Given the description of an element on the screen output the (x, y) to click on. 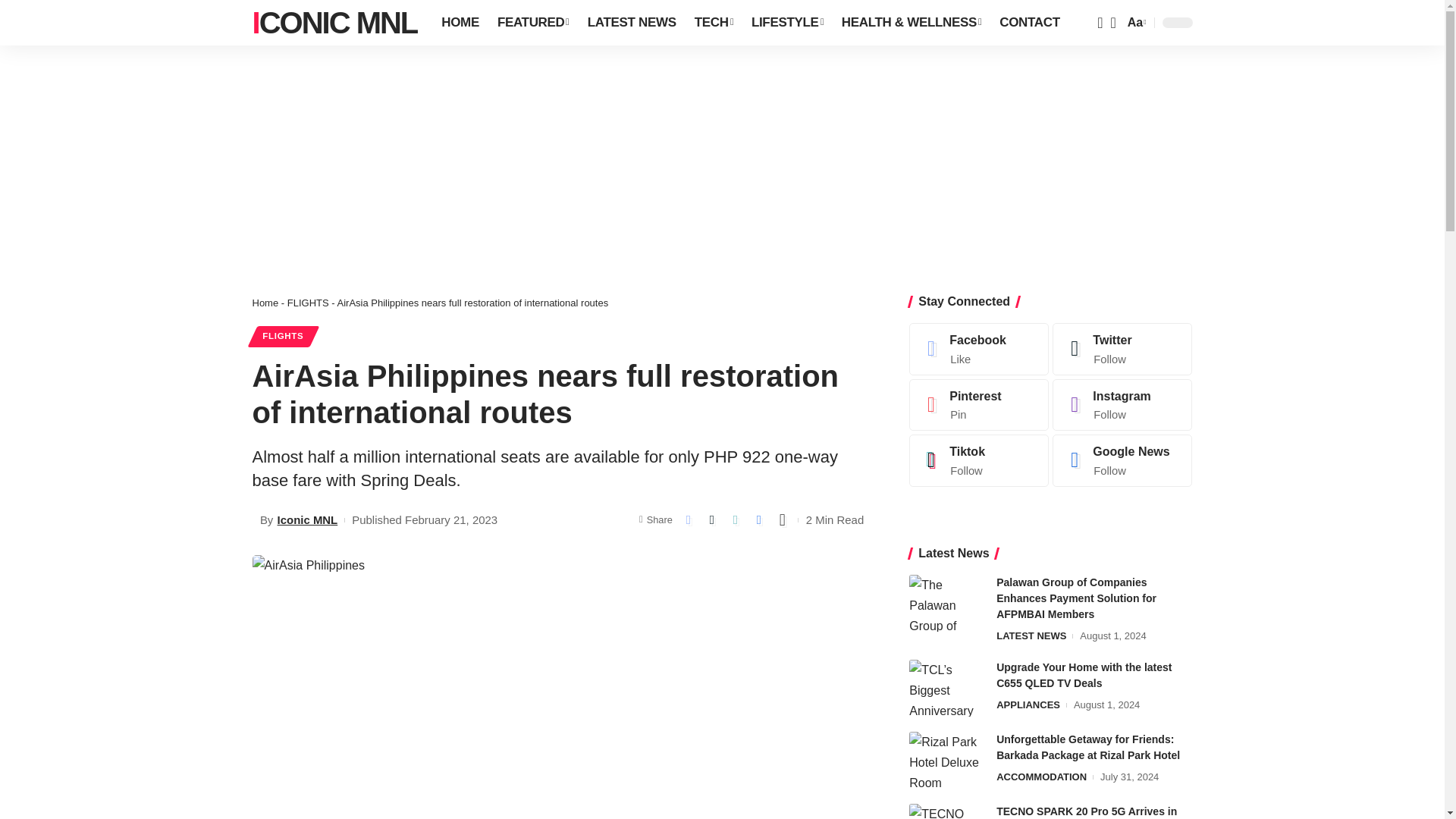
HOME (459, 22)
LATEST NEWS (631, 22)
FEATURED (532, 22)
TECH (713, 22)
ICONIC MNL (333, 22)
LIFESTYLE (787, 22)
TECNO SPARK 20 Pro 5G Arrives in the Philippines (946, 811)
Upgrade Your Home with the latest C655 QLED TV Deals (946, 688)
Iconic MNL (333, 22)
